Given the description of an element on the screen output the (x, y) to click on. 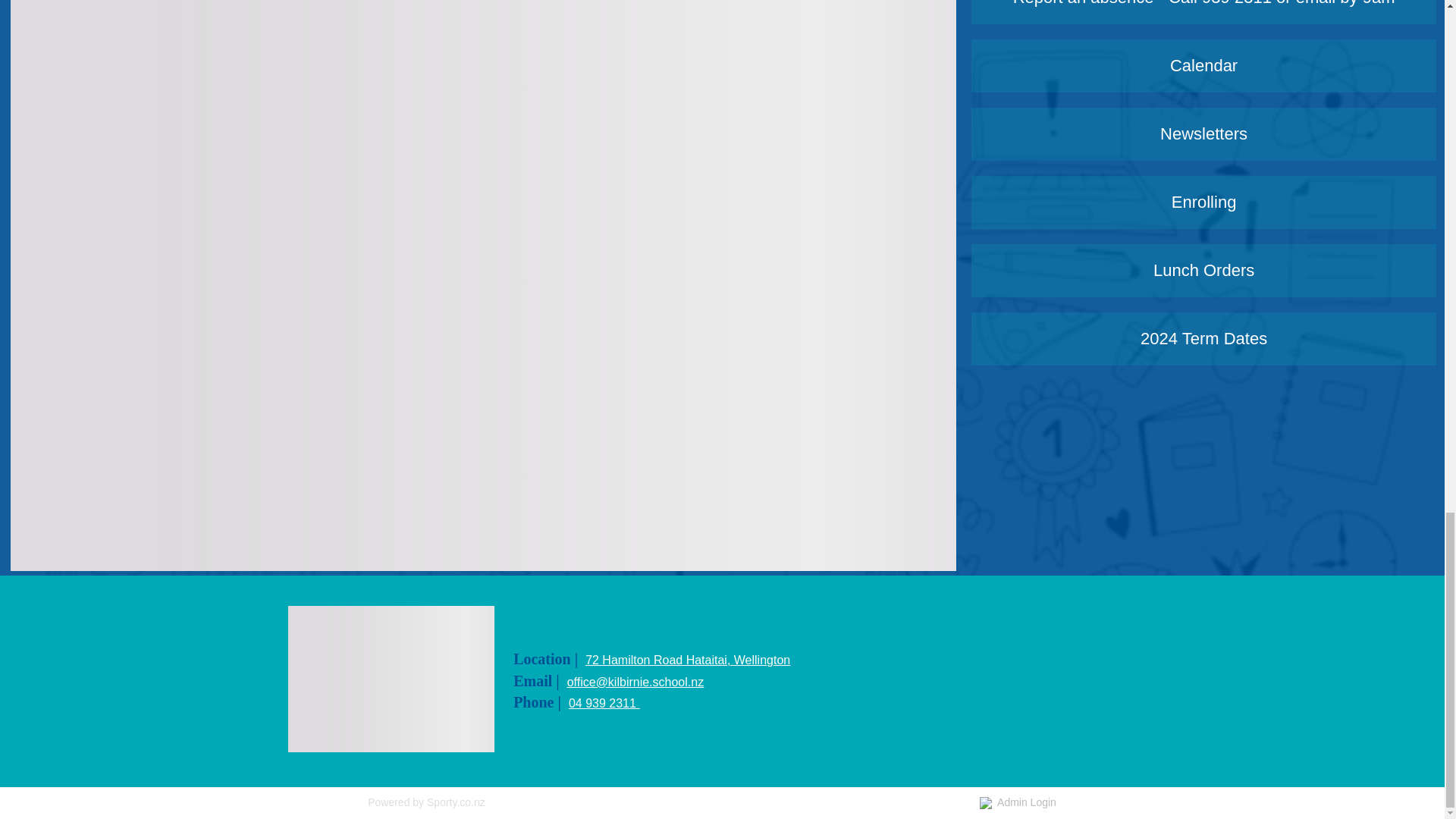
Enrolling (1203, 202)
2024 Term Dates (1203, 338)
Report an absence - Call 939 2311 or email by 9am (1203, 12)
Lunch Orders (1203, 270)
Calendar (1203, 65)
Newsletters (1203, 133)
